Given the description of an element on the screen output the (x, y) to click on. 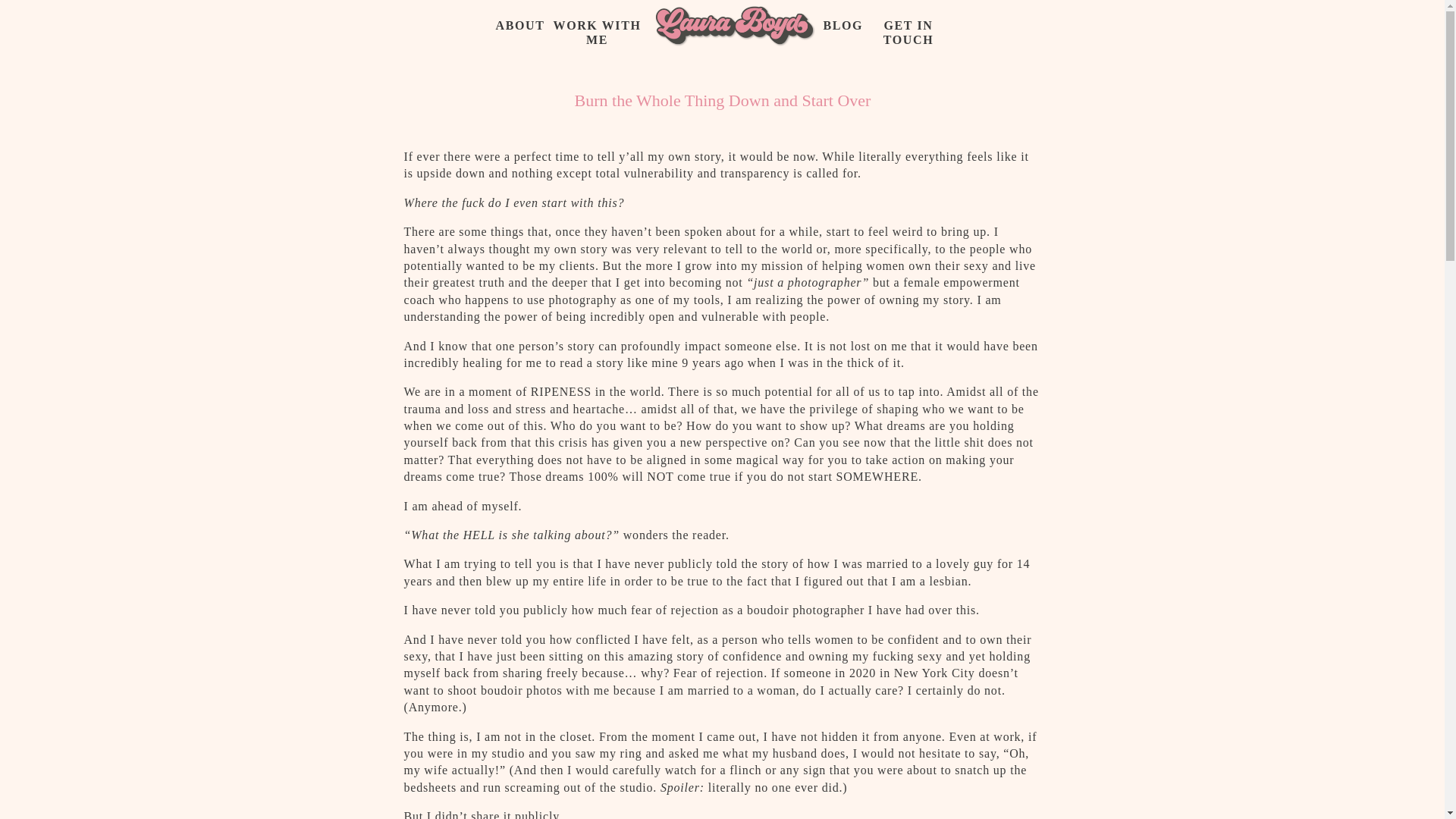
WORK WITH ME (596, 25)
ABOUT (519, 25)
GET IN TOUCH (908, 27)
BLOG (838, 27)
